Given the description of an element on the screen output the (x, y) to click on. 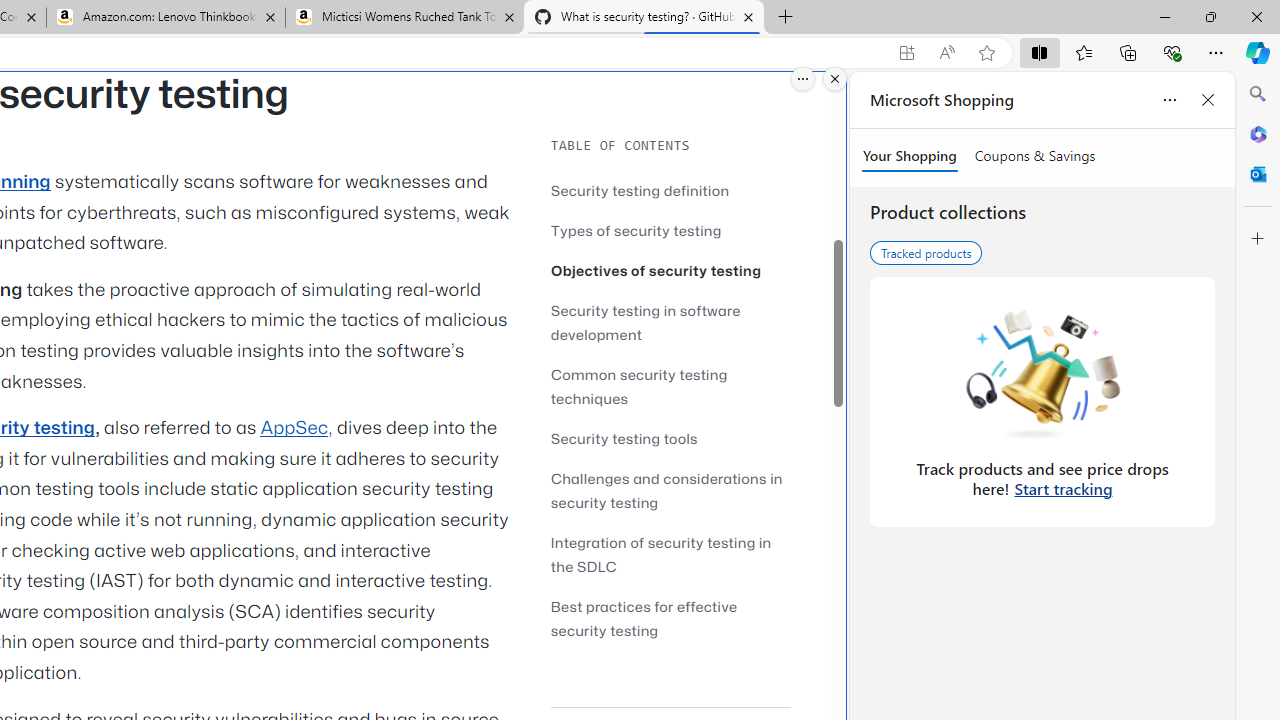
Customize (1258, 239)
App available. Install GitHub (906, 53)
Close split screen. (835, 79)
Best practices for effective security testing (670, 618)
More options. (803, 79)
Security testing tools (623, 438)
Security testing definition (670, 190)
Security testing in software development (670, 322)
Outlook (1258, 174)
Types of security testing (635, 230)
